Given the description of an element on the screen output the (x, y) to click on. 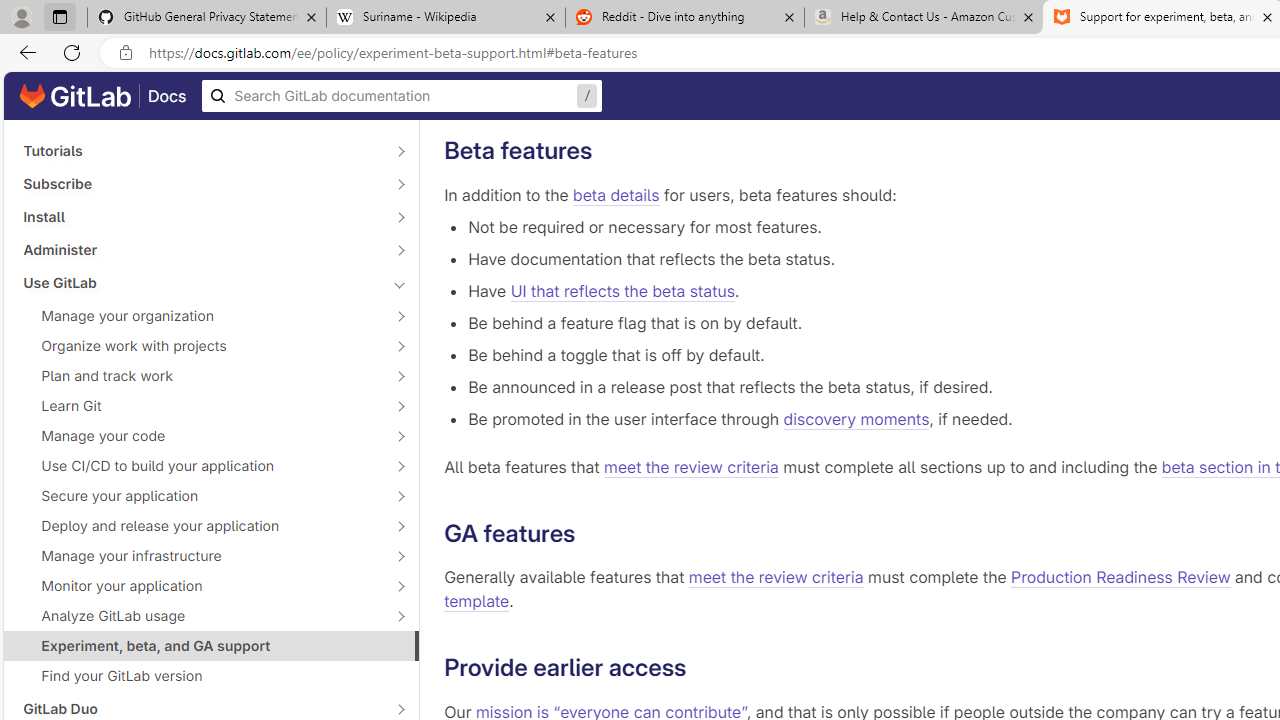
Production Readiness Review (1121, 577)
Manage your organization (199, 315)
Analyze GitLab usage (199, 615)
Secure your application (199, 495)
Use CI/CD to build your application (199, 465)
Find your GitLab version (211, 675)
Organize work with projects (199, 345)
Use GitLab (199, 282)
Manage your code (199, 435)
UI that reflects the beta status (621, 290)
Install (199, 216)
Experiment, beta, and GA support (211, 645)
Help & Contact Us - Amazon Customer Service - Sleeping (924, 17)
